Given the description of an element on the screen output the (x, y) to click on. 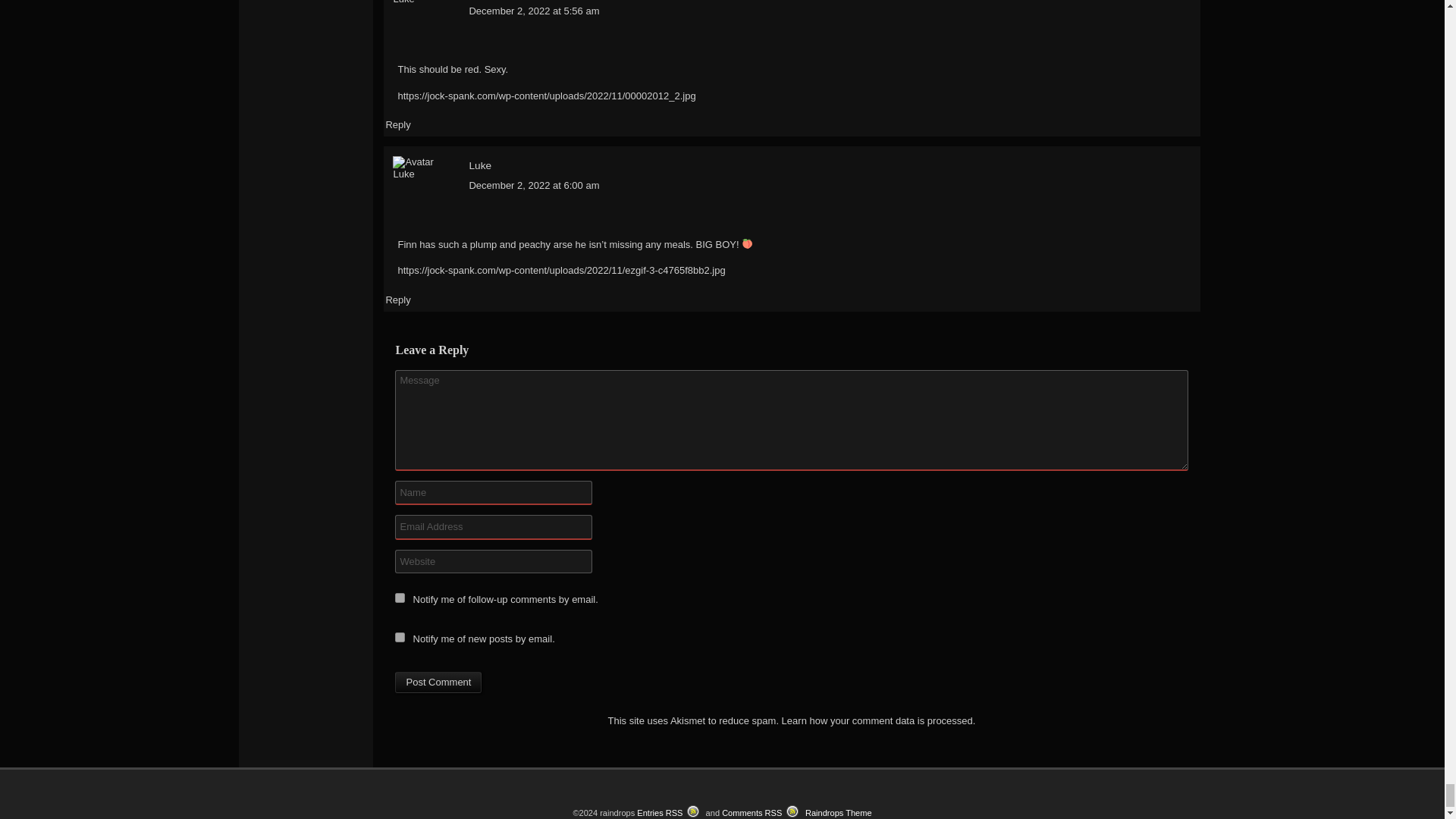
subscribe (399, 637)
Post Comment (437, 681)
Required Your Name (493, 492)
Required Your Email (493, 526)
subscribe (399, 597)
Required Your Message (791, 420)
